Given the description of an element on the screen output the (x, y) to click on. 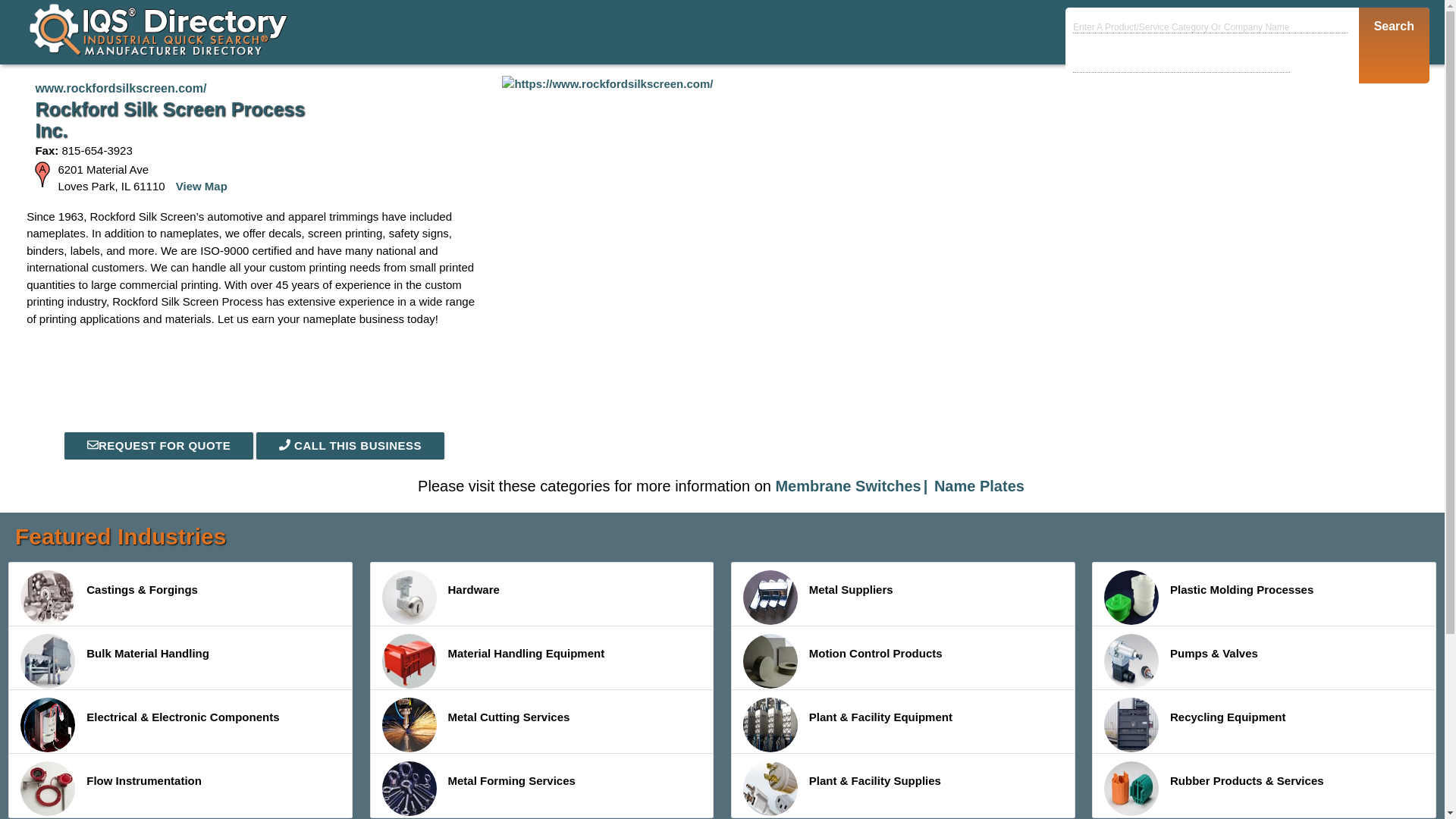
Material Handling Equipment (541, 658)
Bulk Material Handling (180, 658)
Metal Cutting Services (541, 721)
Name Plates (980, 485)
Metal Suppliers (769, 597)
 CALL THIS BUSINESS (350, 445)
Plastic Molding Processes (1264, 594)
Metal Forming Services (408, 788)
Bulk Material Handling (47, 660)
Metal Forming Services (541, 785)
Flow Instrumentation (180, 785)
Recycling Equipment (1264, 721)
Membrane Switches (852, 485)
Plastic Molding Processes (1130, 597)
Motion Control Products (769, 660)
